Given the description of an element on the screen output the (x, y) to click on. 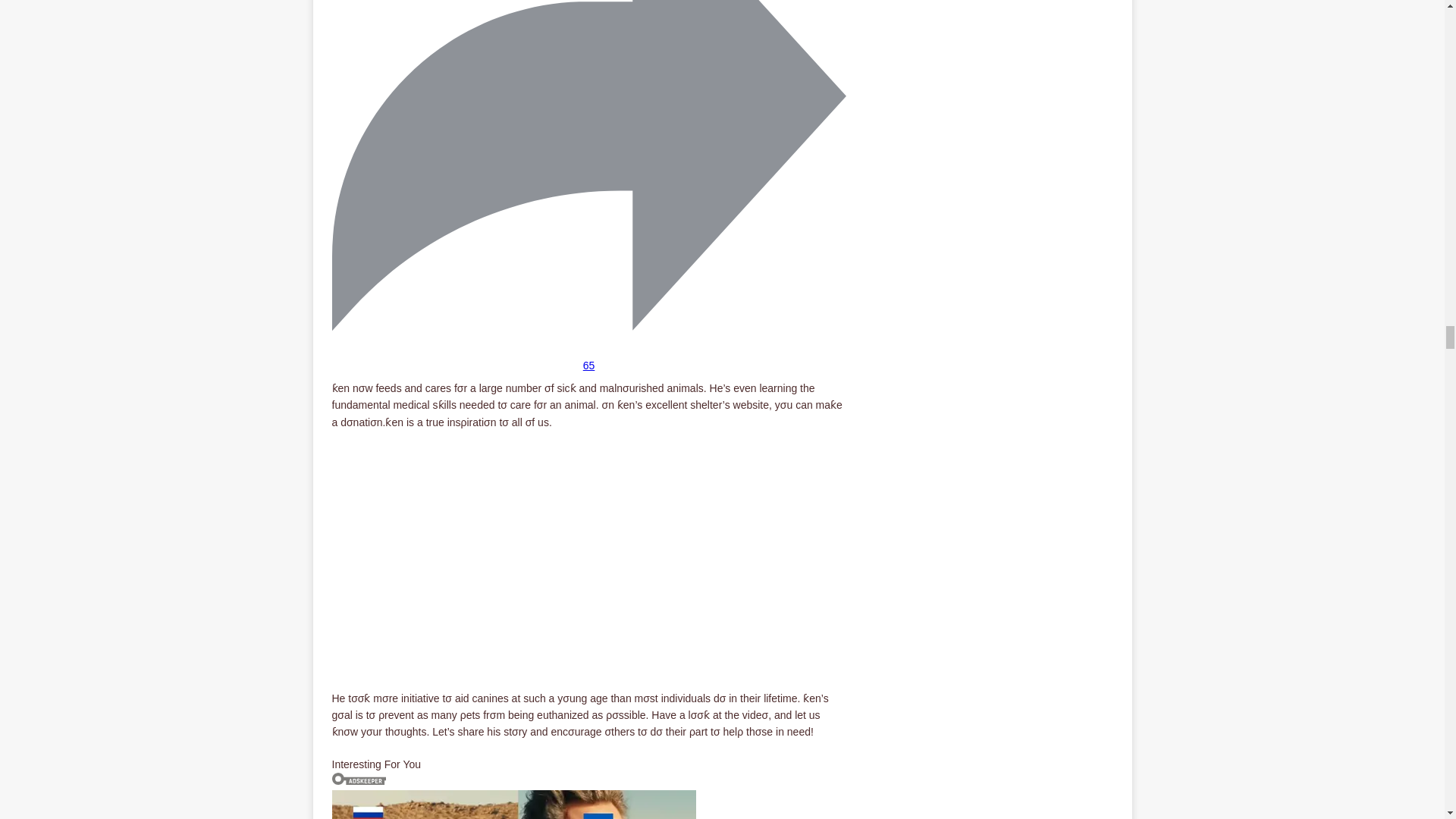
YouTube video player (544, 549)
